Given the description of an element on the screen output the (x, y) to click on. 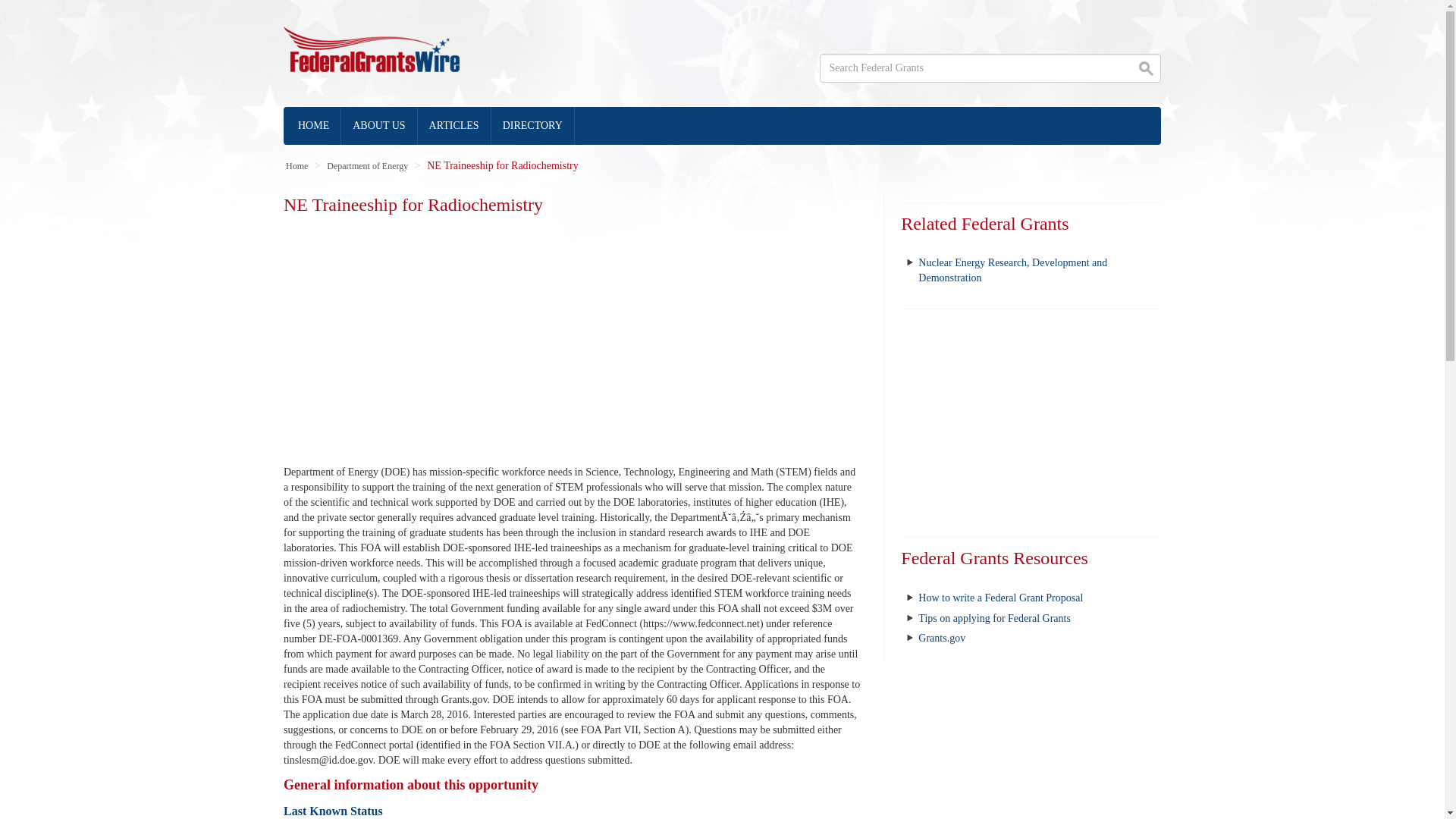
ARTICLES (454, 125)
Advertisement (571, 336)
Tips on applying for Federal Grants (994, 618)
Advertisement (1030, 422)
DIRECTORY (533, 125)
Grants.gov (941, 637)
Nuclear Energy Research, Development and Demonstration (1012, 270)
Department of Energy (366, 165)
Home (296, 165)
ABOUT US (378, 125)
